Given the description of an element on the screen output the (x, y) to click on. 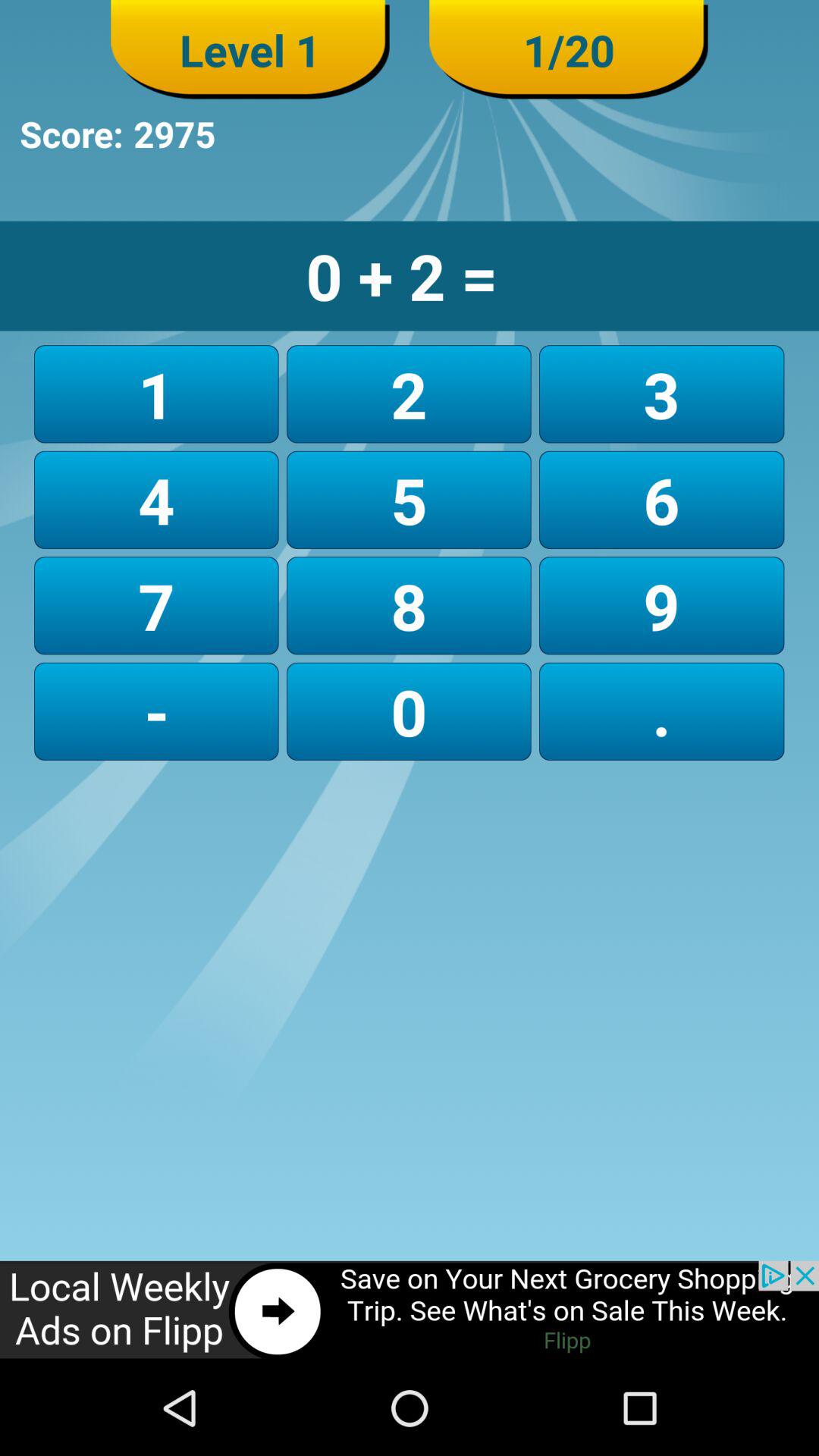
advertisement link (409, 1310)
